Given the description of an element on the screen output the (x, y) to click on. 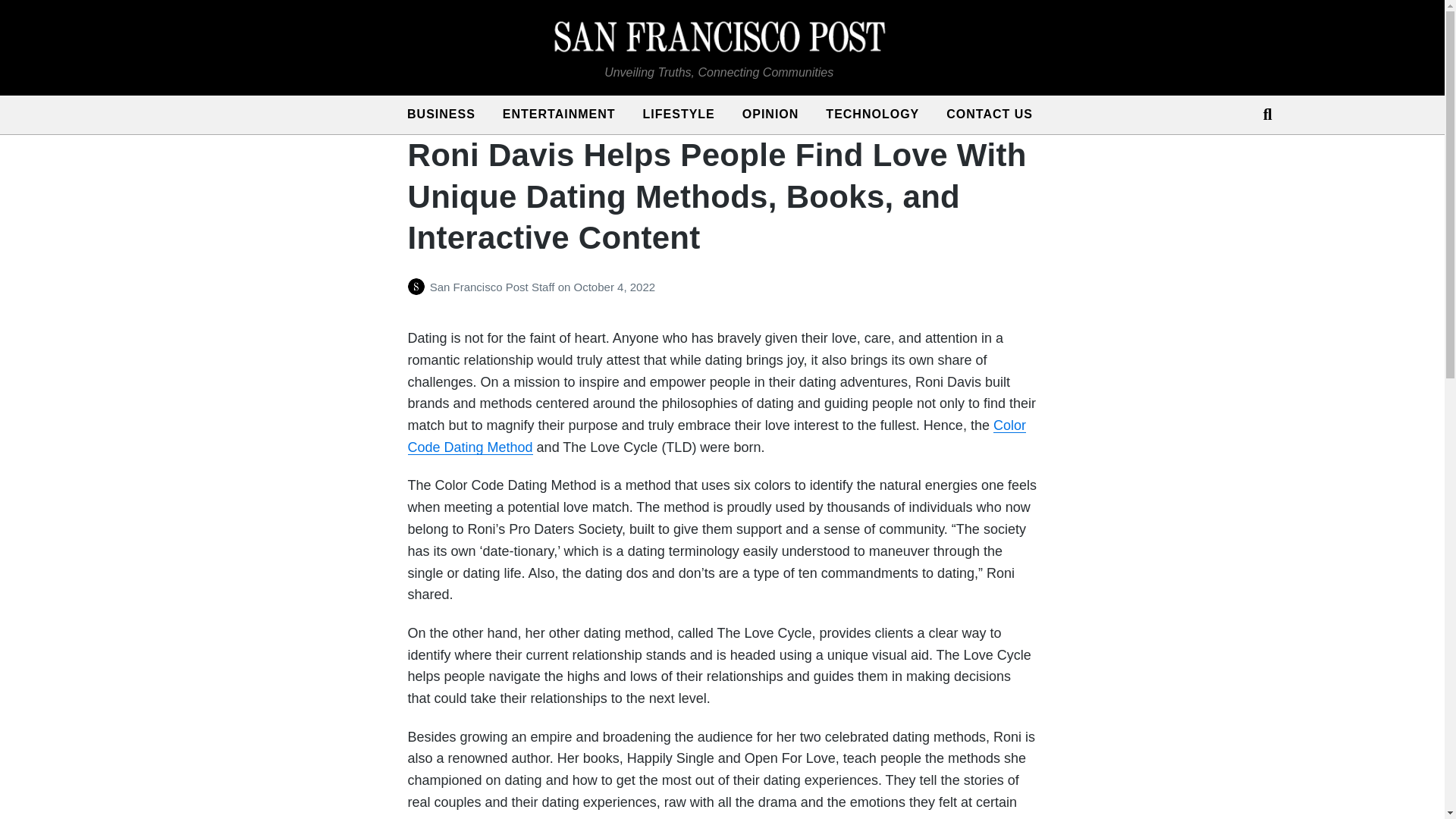
ENTERTAINMENT (558, 114)
Search (1259, 114)
Color Code Dating Method (716, 436)
OPINION (770, 114)
LIFESTYLE (678, 114)
CONTACT US (989, 114)
Posts by San Francisco Post Staff (418, 286)
San Francisco Post Staff (493, 286)
BUSINESS (441, 114)
TECHNOLOGY (872, 114)
